Given the description of an element on the screen output the (x, y) to click on. 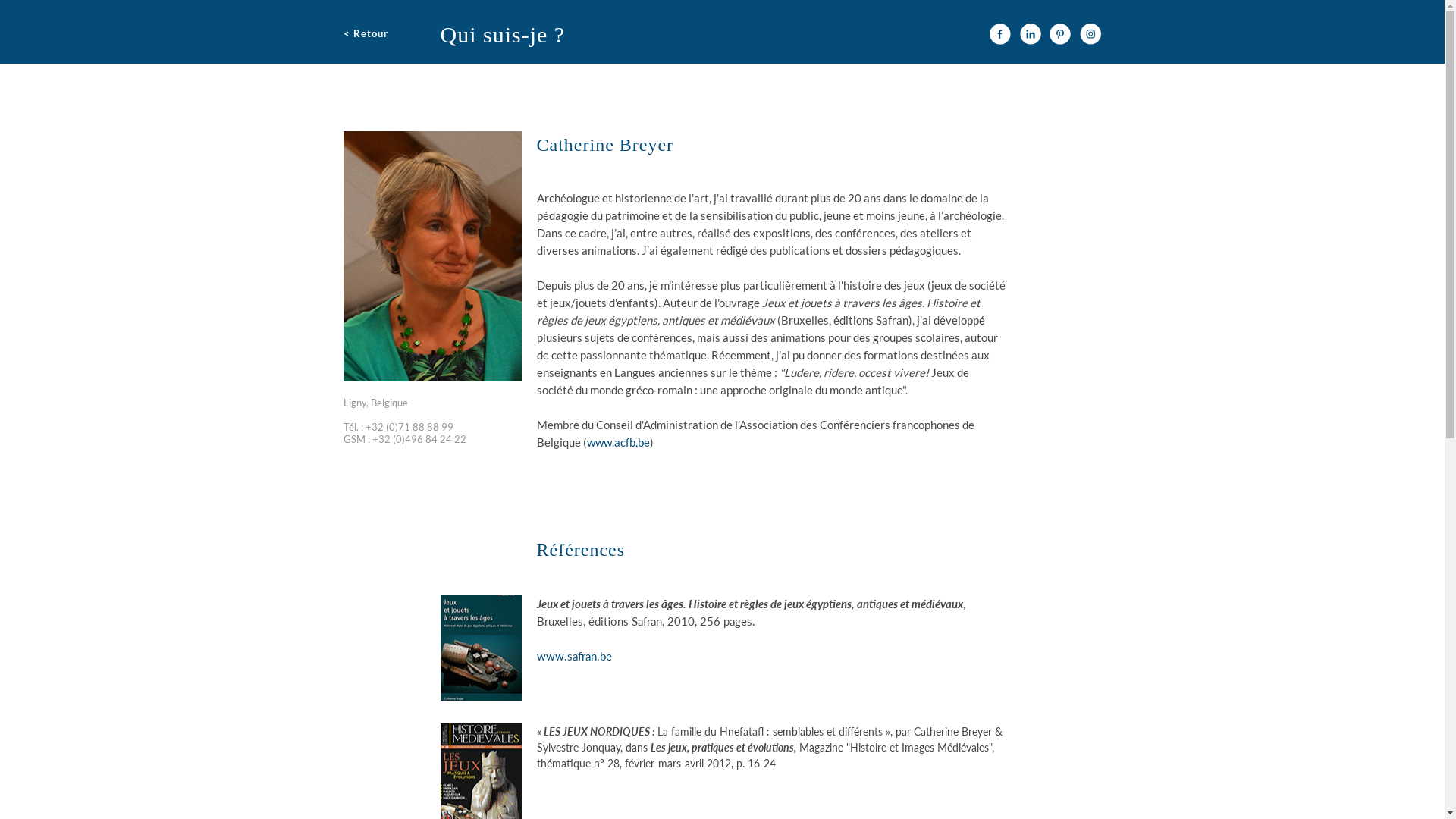
< Retour Element type: text (372, 33)
www.safran.be Element type: text (573, 655)
www.acfb.be Element type: text (617, 441)
